Given the description of an element on the screen output the (x, y) to click on. 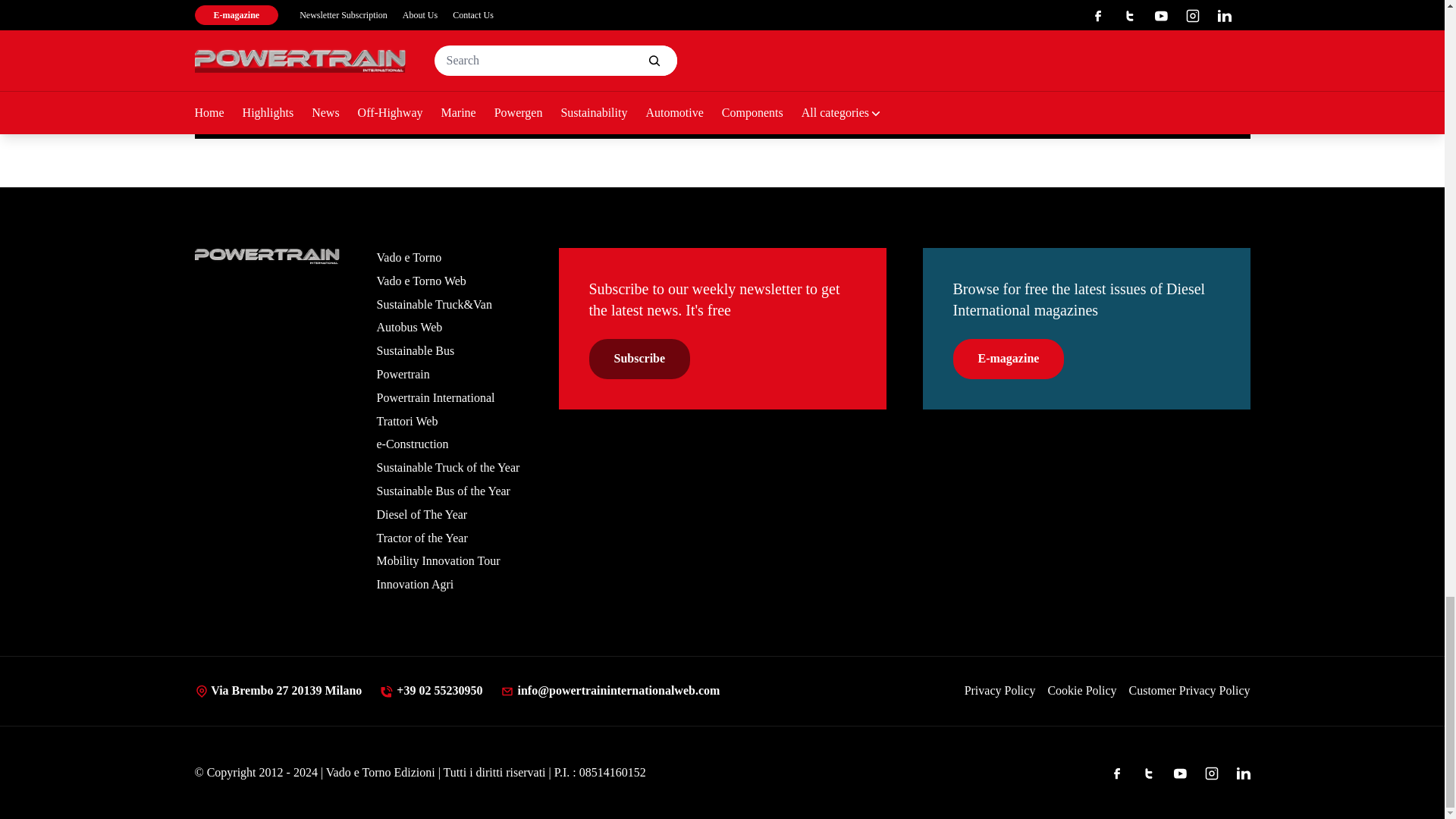
Powertrain International (266, 256)
